Given the description of an element on the screen output the (x, y) to click on. 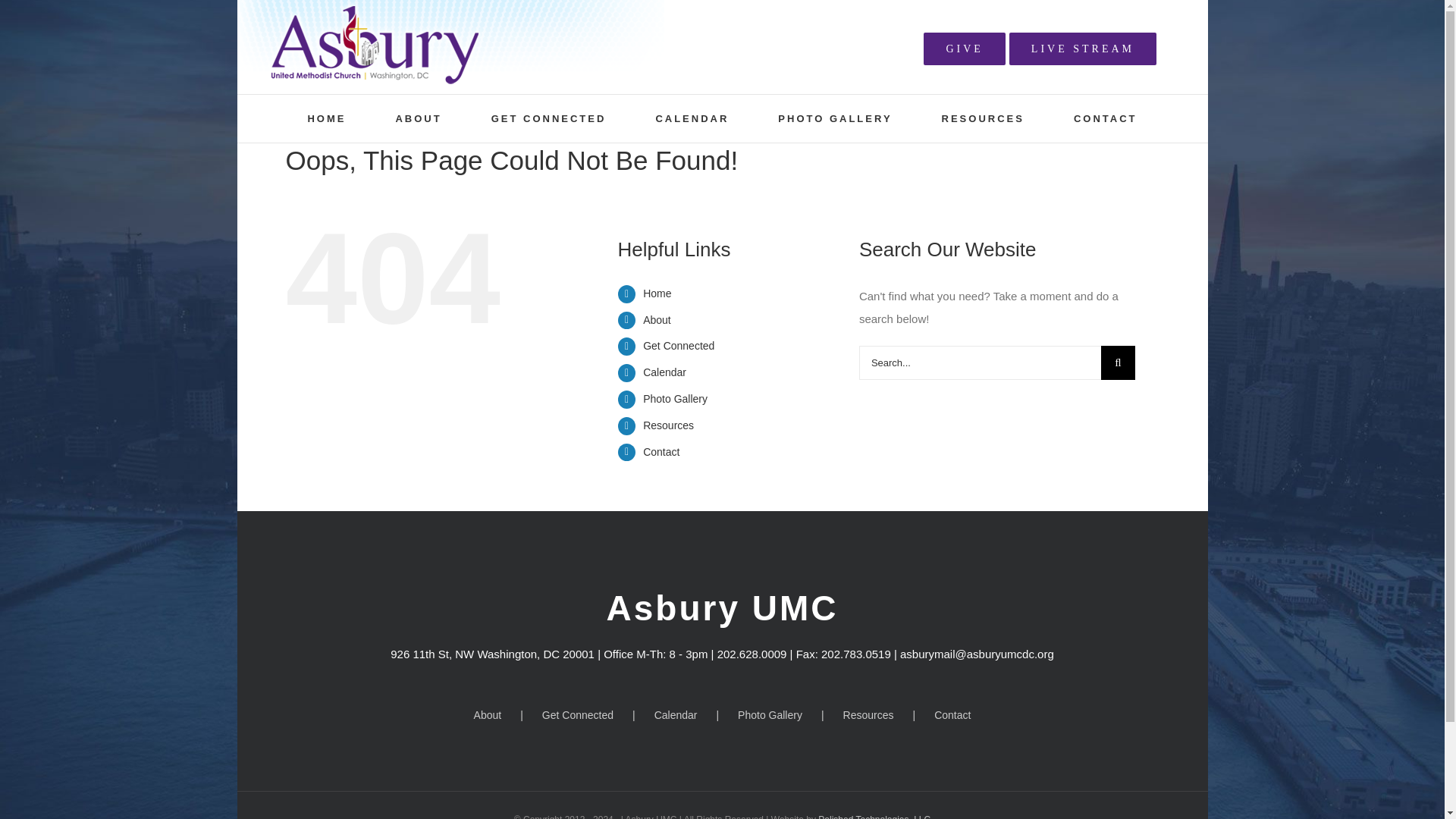
LIVE STREAM (1082, 47)
GET CONNECTED (549, 118)
CALENDAR (692, 118)
ABOUT (417, 118)
CONTACT (1105, 118)
RESOURCES (983, 118)
HOME (326, 118)
PHOTO GALLERY (834, 118)
GIVE (963, 47)
